Given the description of an element on the screen output the (x, y) to click on. 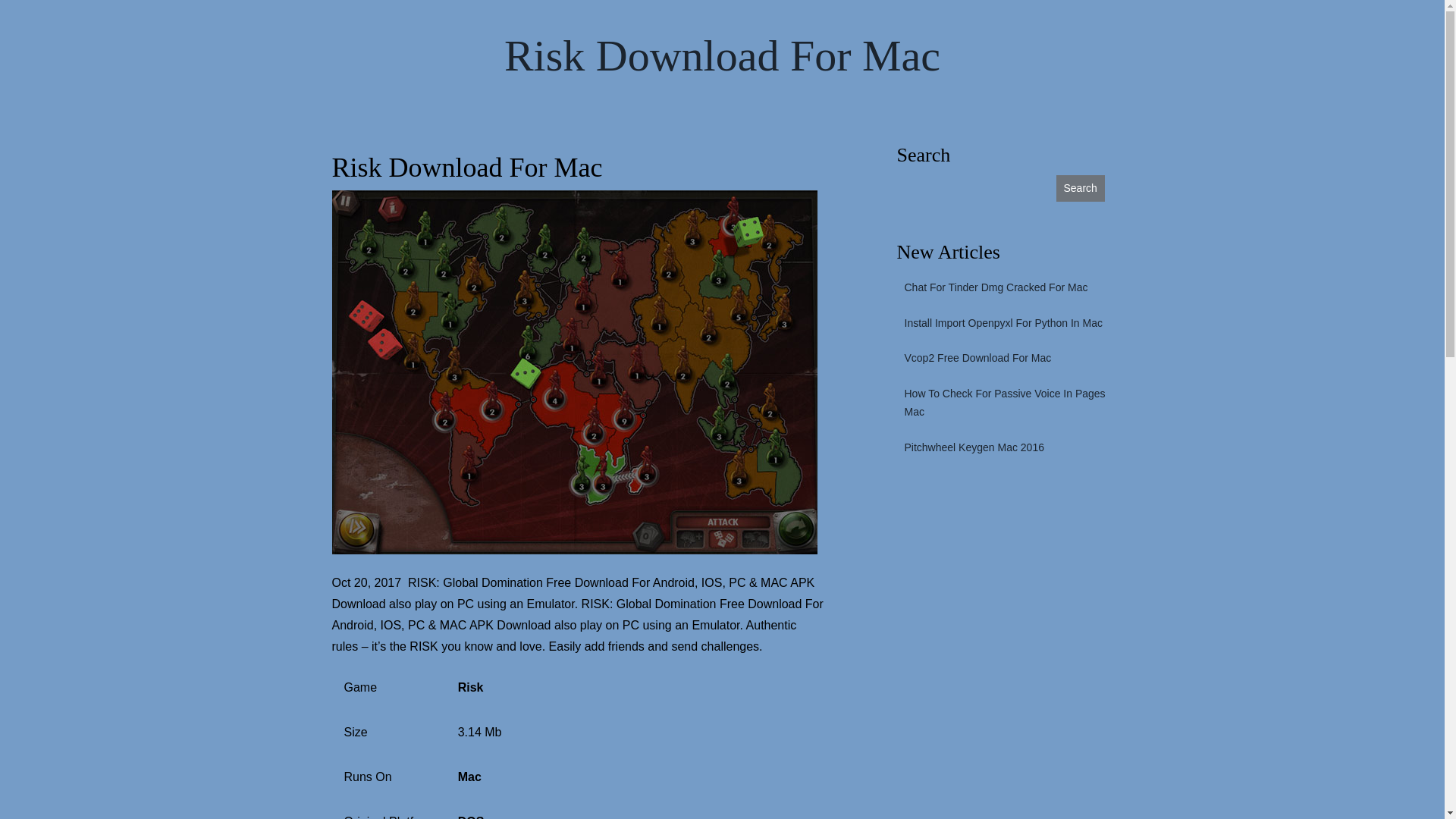
Pitchwheel Keygen Mac 2016 (969, 448)
Risk Download For Mac (721, 56)
Chat For Tinder Dmg Cracked For Mac (991, 288)
Search (1079, 188)
Search (1079, 188)
How To Check For Passive Voice In Pages Mac (1010, 402)
Install Import Openpyxl For Python In Mac (999, 323)
Vcop2 Free Download For Mac (973, 358)
